Given the description of an element on the screen output the (x, y) to click on. 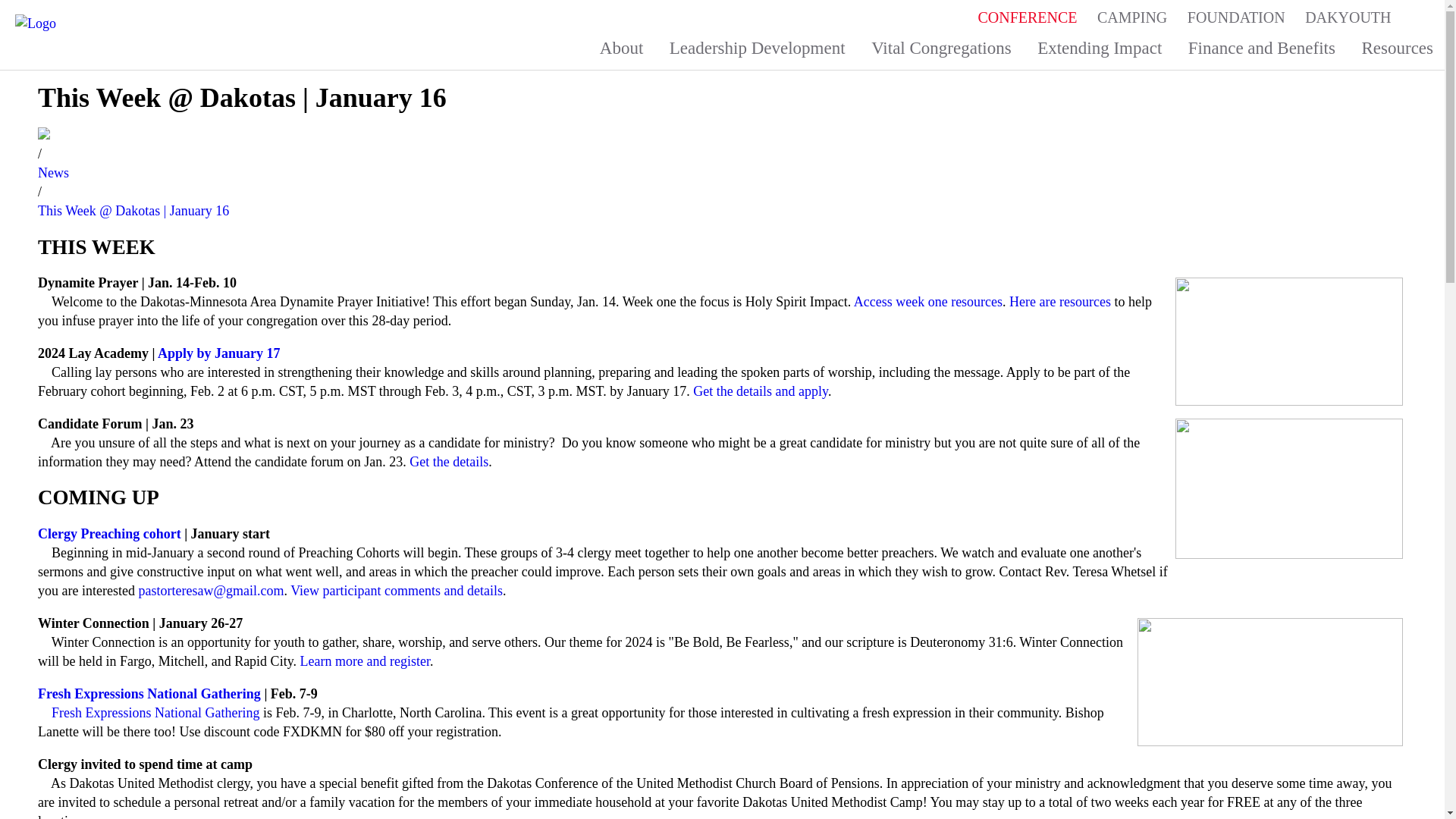
DAKYOUTH (1348, 12)
Extending Impact (1099, 47)
Leadership Development (757, 47)
Camping (1131, 12)
Leadership Development (757, 47)
About (621, 47)
Foundation (1236, 12)
CONFERENCE (1026, 12)
FOUNDATION (1236, 12)
Extending Impact (1099, 47)
